Given the description of an element on the screen output the (x, y) to click on. 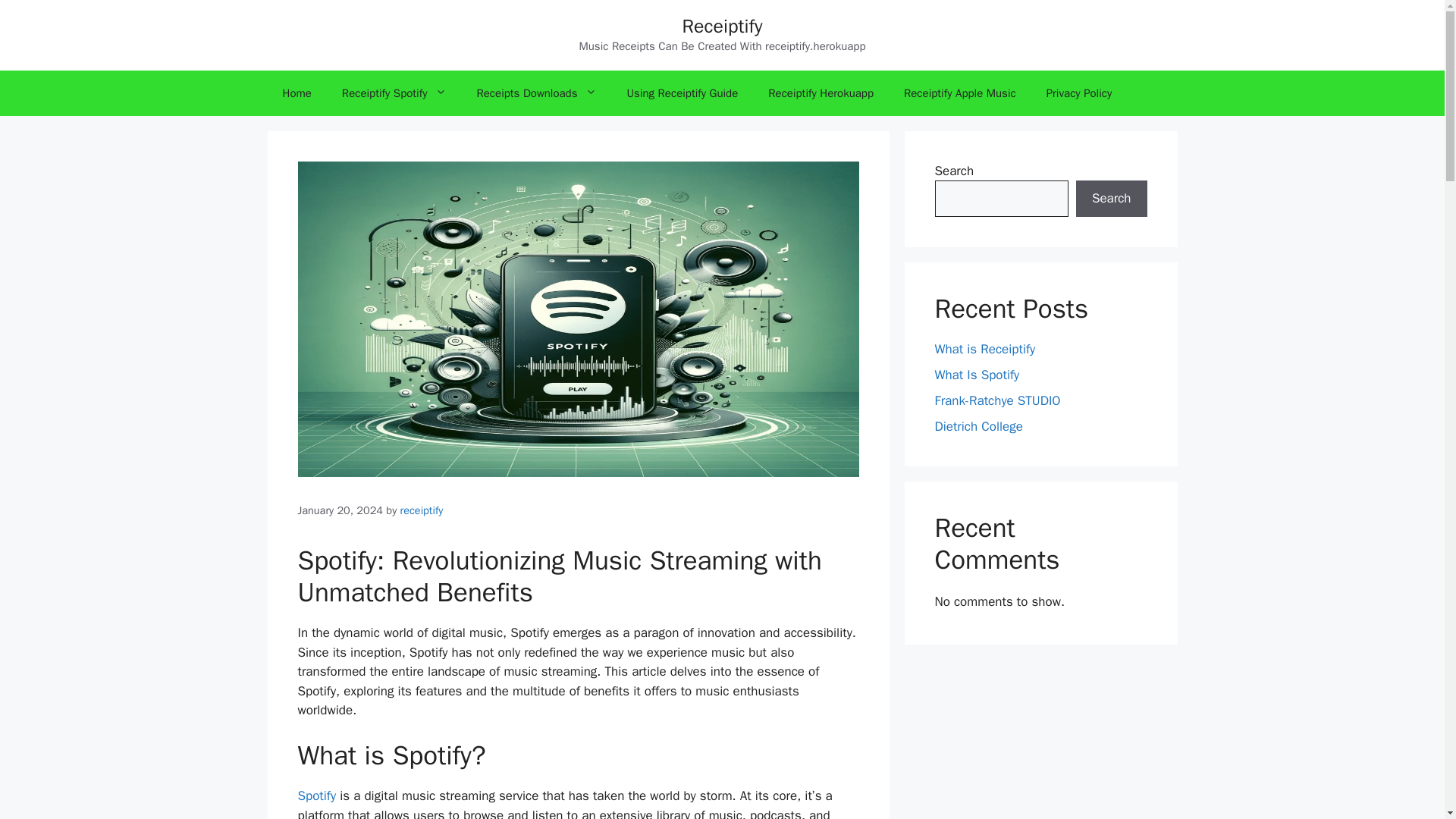
Receiptify Spotify (393, 92)
receiptify (422, 509)
View all posts by receiptify (422, 509)
Receiptify Herokuapp (820, 92)
Receipts Downloads (536, 92)
Home (296, 92)
Receiptify (722, 25)
What is Receiptify (984, 349)
Search (1111, 198)
Using Receiptify Guide (681, 92)
